Given the description of an element on the screen output the (x, y) to click on. 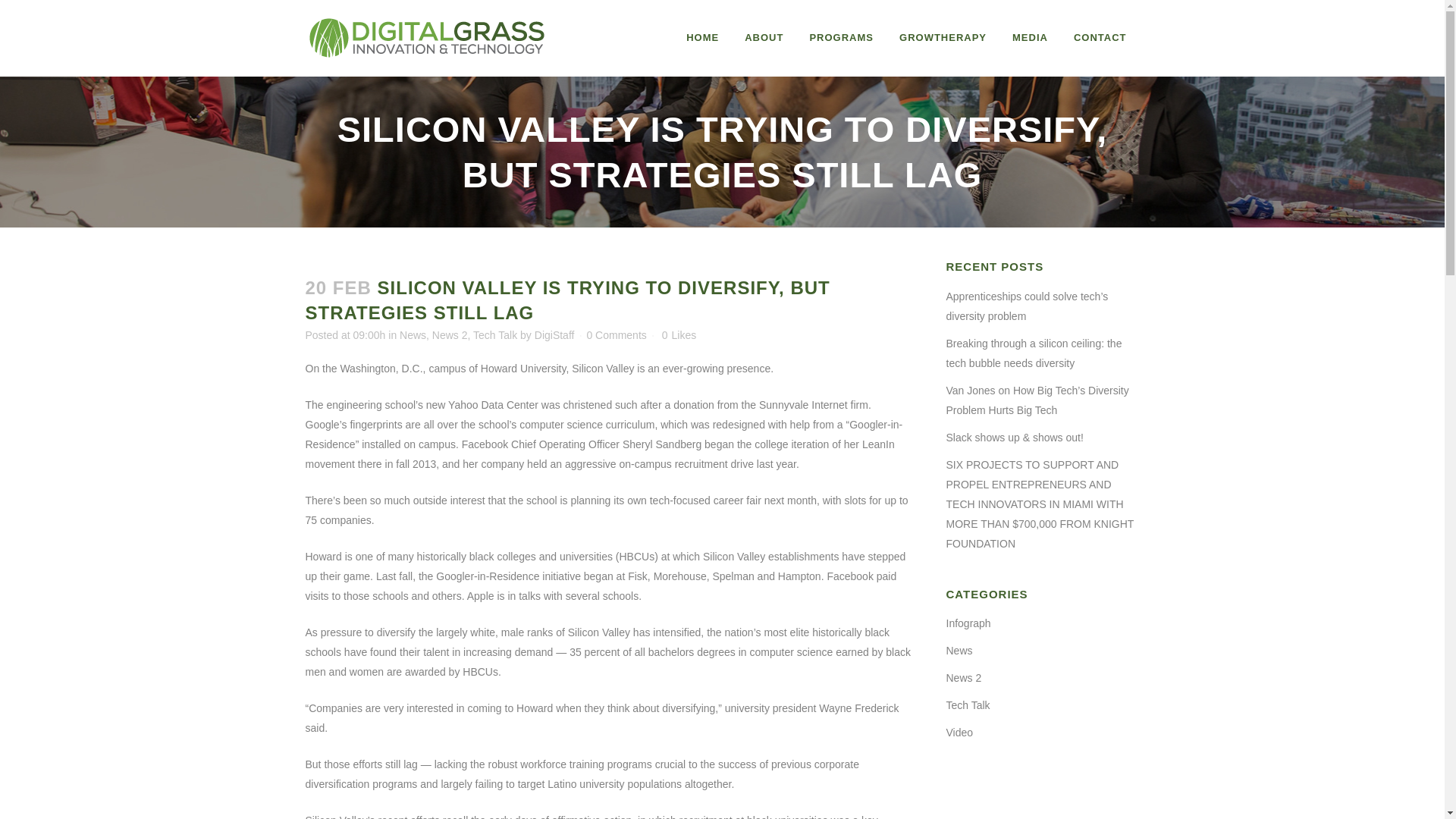
Like this (678, 335)
News 2 (449, 335)
0 Likes (678, 335)
Tech Talk (494, 335)
PROGRAMS (841, 38)
DigiStaff (554, 335)
GROWTHERAPY (942, 38)
CONTACT (1100, 38)
News (412, 335)
0 Comments (616, 335)
